Given the description of an element on the screen output the (x, y) to click on. 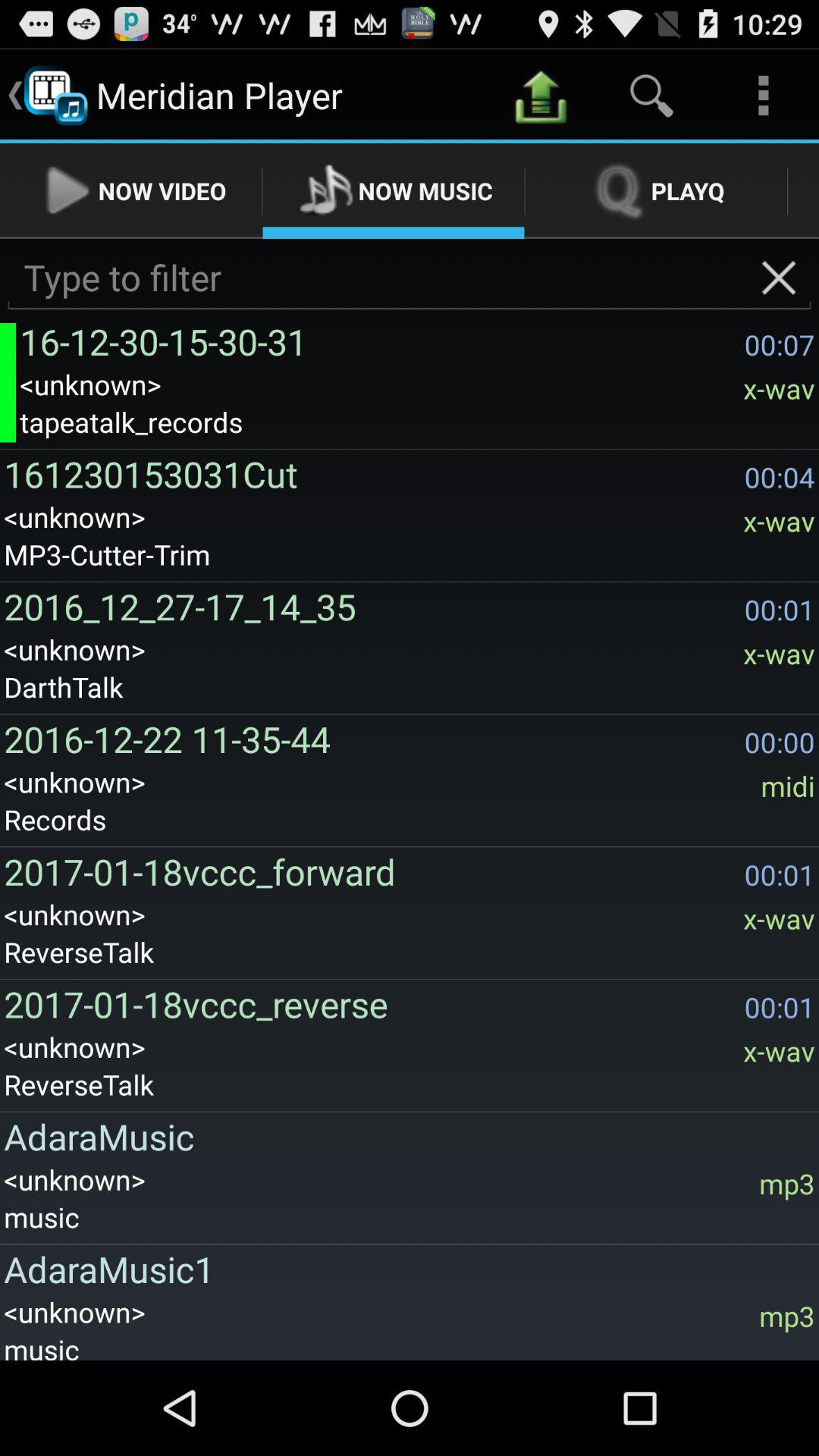
input a search query (409, 277)
